Given the description of an element on the screen output the (x, y) to click on. 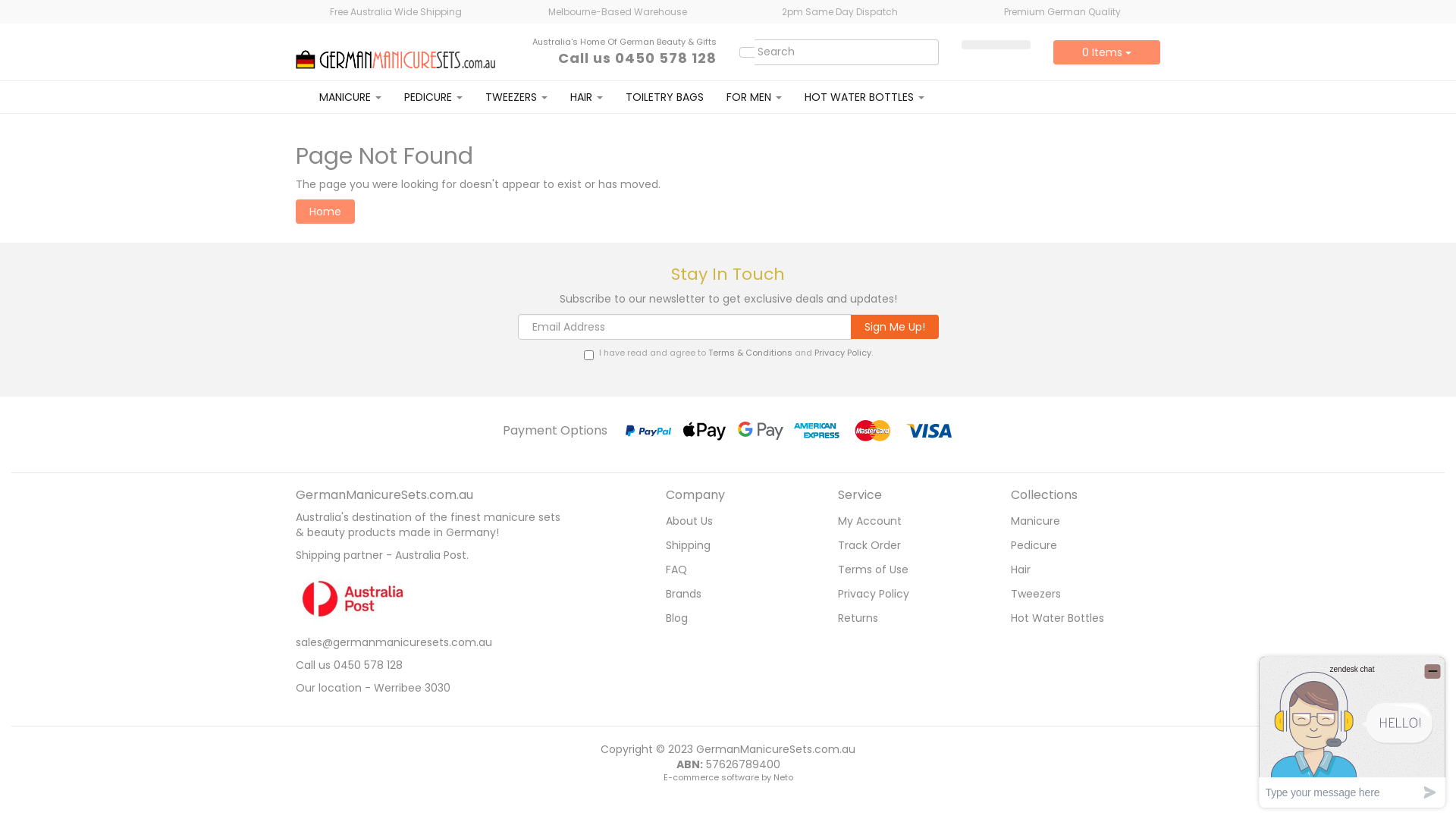
Pedicure Element type: text (1080, 544)
Manicure Element type: text (1080, 520)
HAIR Element type: text (586, 96)
Hair Element type: text (1080, 569)
Brands Element type: text (734, 593)
MANICURE Element type: text (349, 96)
Call us 0450 578 128 Element type: text (637, 57)
Terms of Use Element type: text (907, 569)
Hot Water Bottles Element type: text (1080, 617)
Track Order Element type: text (907, 544)
TWEEZERS Element type: text (515, 96)
GermanManicureSets.com.au Element type: hover (395, 50)
Blog Element type: text (734, 617)
Opens a widget where you can chat to one of our agents Element type: hover (1351, 731)
Privacy Policy Element type: text (907, 593)
PEDICURE Element type: text (432, 96)
0 Items Element type: text (1106, 52)
Call us 0450 578 128 Element type: text (348, 664)
TOILETRY BAGS Element type: text (664, 96)
My Account Element type: text (907, 520)
FAQ Element type: text (734, 569)
HOT WATER BOTTLES Element type: text (864, 96)
FOR MEN Element type: text (754, 96)
About Us Element type: text (734, 520)
Home Element type: text (324, 211)
Tweezers Element type: text (1080, 593)
Terms & Conditions Element type: text (750, 352)
Privacy Policy Element type: text (842, 352)
E-commerce software by Neto Element type: text (727, 777)
Sign Me Up! Element type: text (894, 326)
search Element type: text (747, 52)
Returns Element type: text (907, 617)
sales@germanmanicuresets.com.au Element type: text (393, 641)
Shipping Element type: text (734, 544)
